Given the description of an element on the screen output the (x, y) to click on. 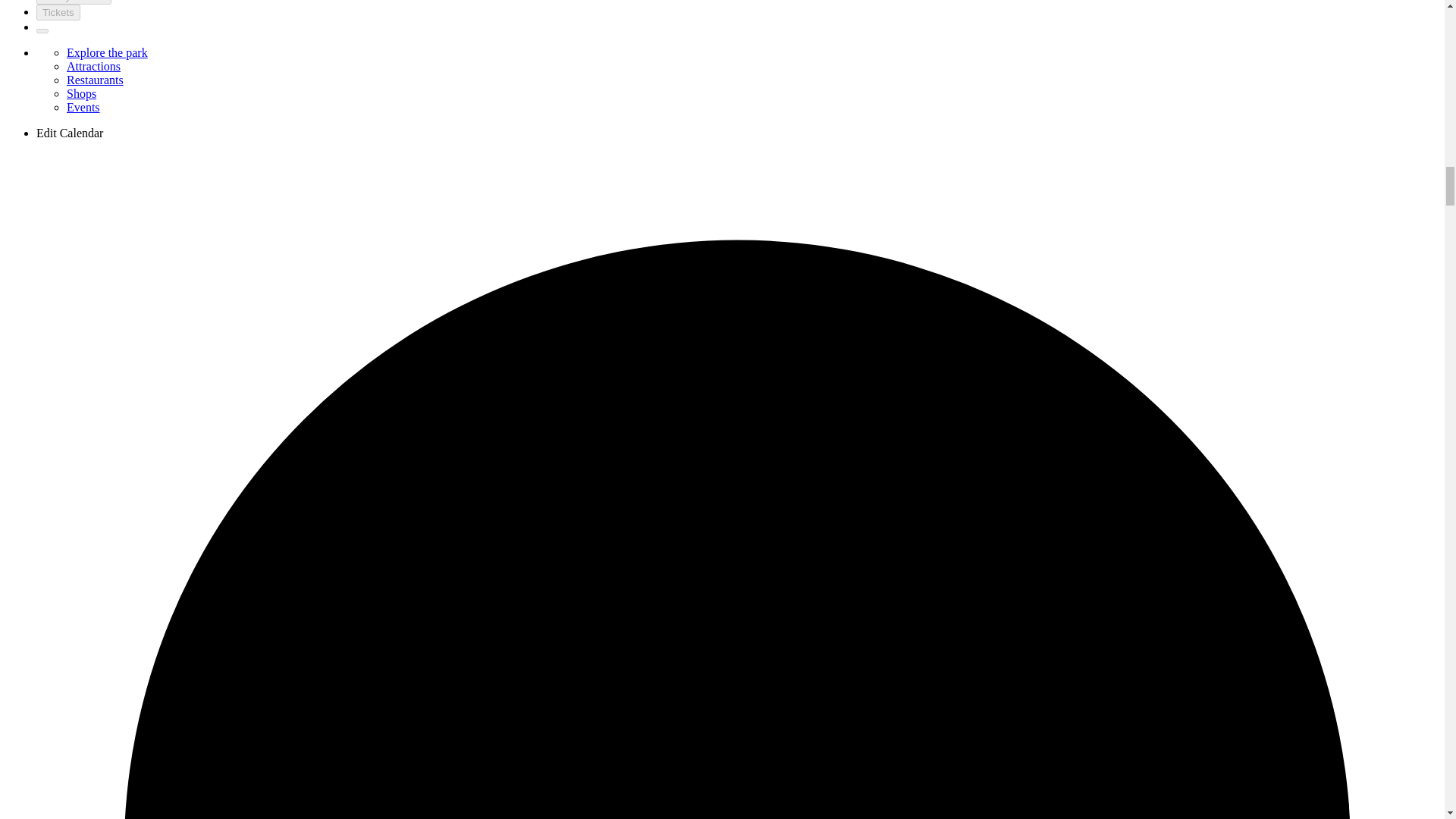
Explore the park (107, 51)
Shops (81, 92)
Plan your visit (74, 2)
Events (83, 106)
Attractions (93, 65)
Restaurants (94, 79)
Tickets (58, 12)
